Given the description of an element on the screen output the (x, y) to click on. 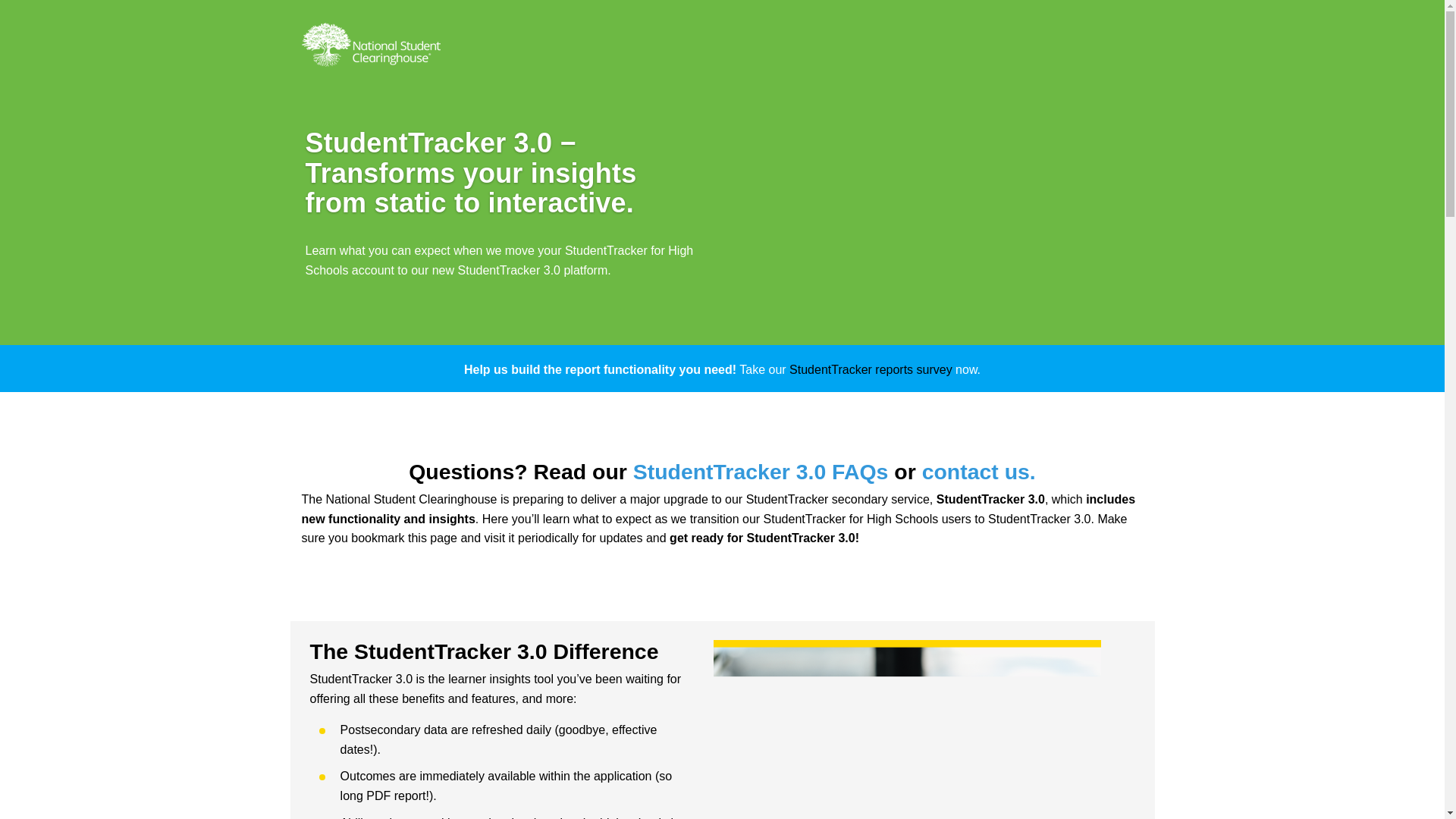
contact us. (978, 471)
StudentTracker reports survey (870, 369)
StudentTracker 3.0 FAQs (760, 471)
YouTube video player (894, 201)
The StudentTracker 3.0 Difference (503, 651)
